Given the description of an element on the screen output the (x, y) to click on. 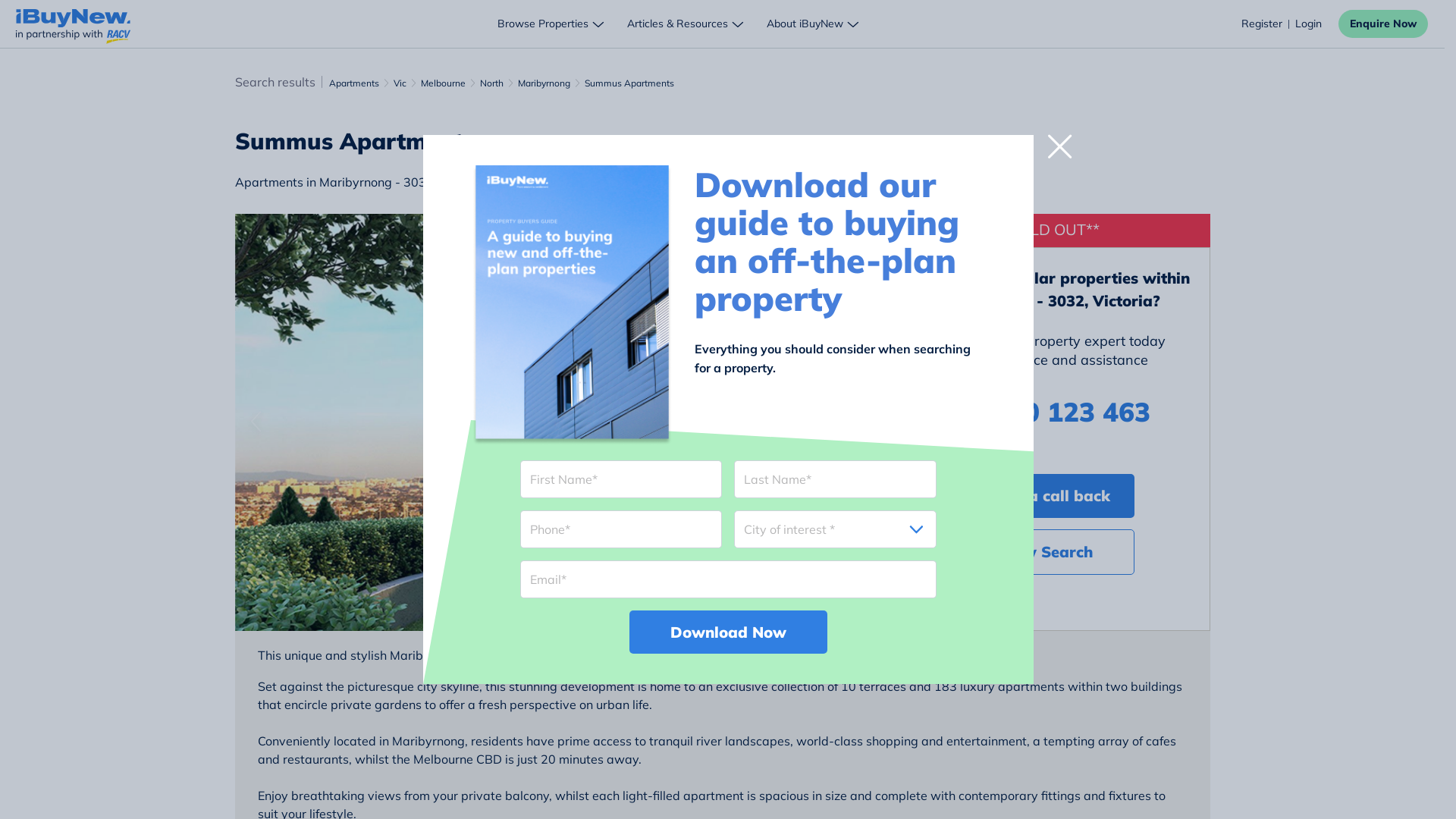
Vic Element type: text (398, 82)
Next &raquo; Element type: text (836, 421)
&laquo; Previous Element type: text (283, 421)
New Search Element type: text (1047, 551)
Search results Element type: text (275, 81)
Register Element type: text (1261, 23)
Download Now Element type: text (728, 631)
North Element type: text (490, 82)
Apartments Element type: text (354, 82)
Articles & Resources Element type: text (686, 23)
Book a call back Element type: text (1047, 495)
Maribyrnong Element type: text (543, 82)
1300 123 463 Element type: text (1047, 412)
City of interest * Element type: text (835, 529)
Browse Properties Element type: text (551, 23)
Summus Apartments Element type: text (628, 82)
About iBuyNew Element type: text (813, 23)
Login Element type: text (1308, 23)
Melbourne Element type: text (442, 82)
Enquire Now Element type: text (1382, 23)
